Given the description of an element on the screen output the (x, y) to click on. 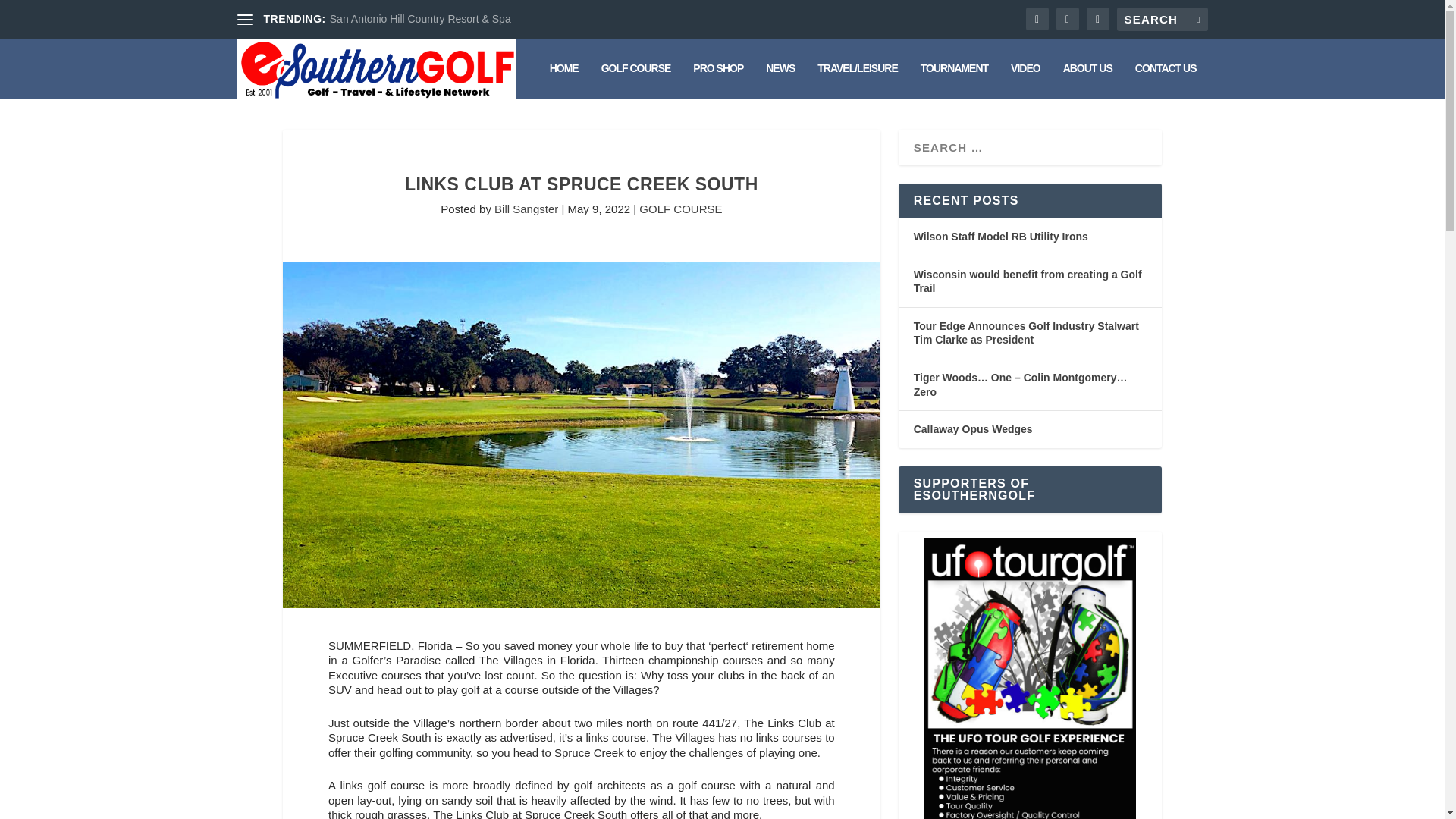
NEWS (779, 80)
TOURNAMENT (954, 80)
HOME (564, 80)
ABOUT US (1087, 80)
VIDEO (1025, 80)
GOLF COURSE (636, 80)
CONTACT US (1165, 80)
PRO SHOP (717, 80)
Search for: (1161, 19)
Posts by Bill Sangster (526, 208)
